Given the description of an element on the screen output the (x, y) to click on. 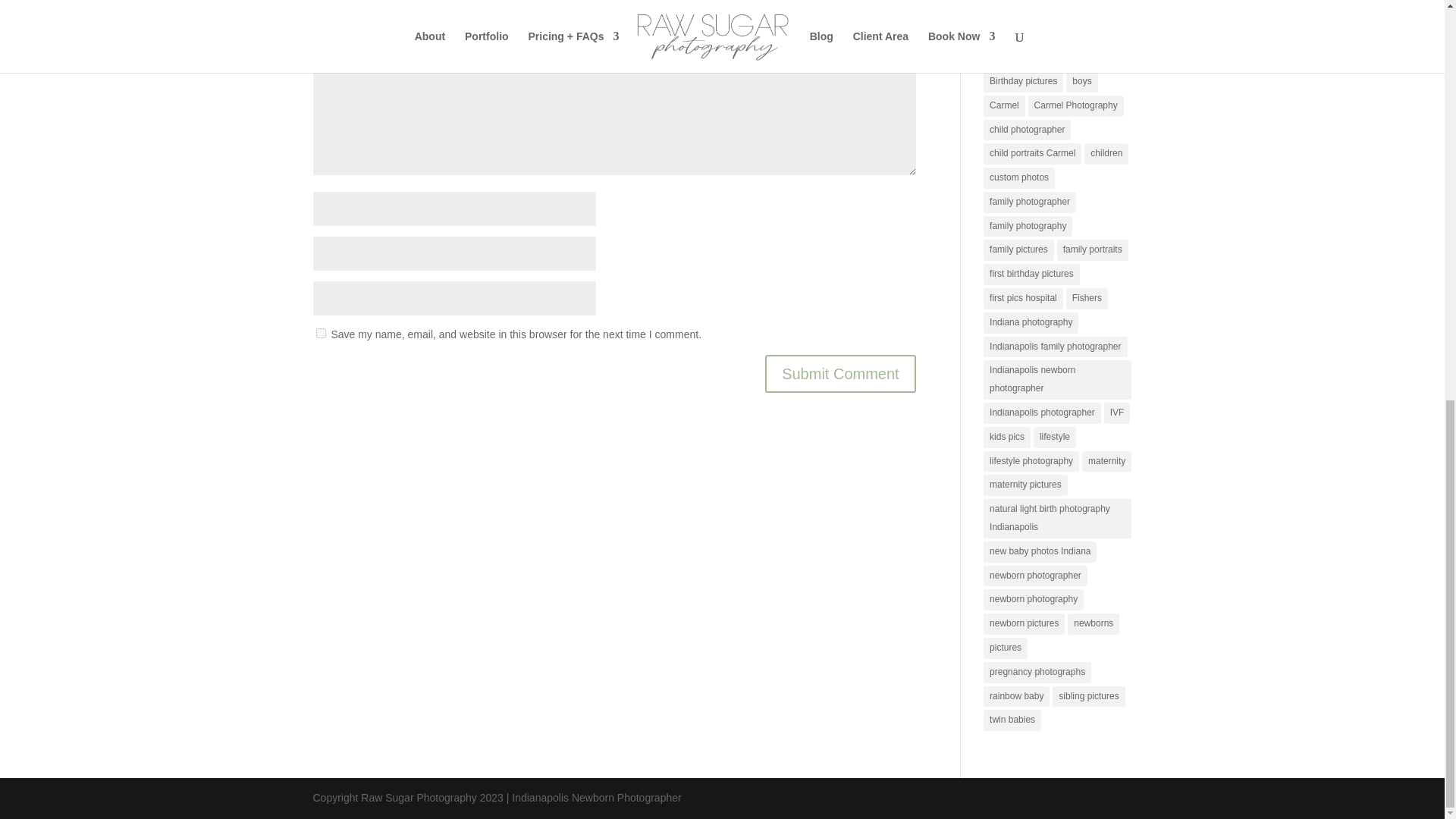
yes (319, 333)
Submit Comment (840, 373)
Submit Comment (840, 373)
